Given the description of an element on the screen output the (x, y) to click on. 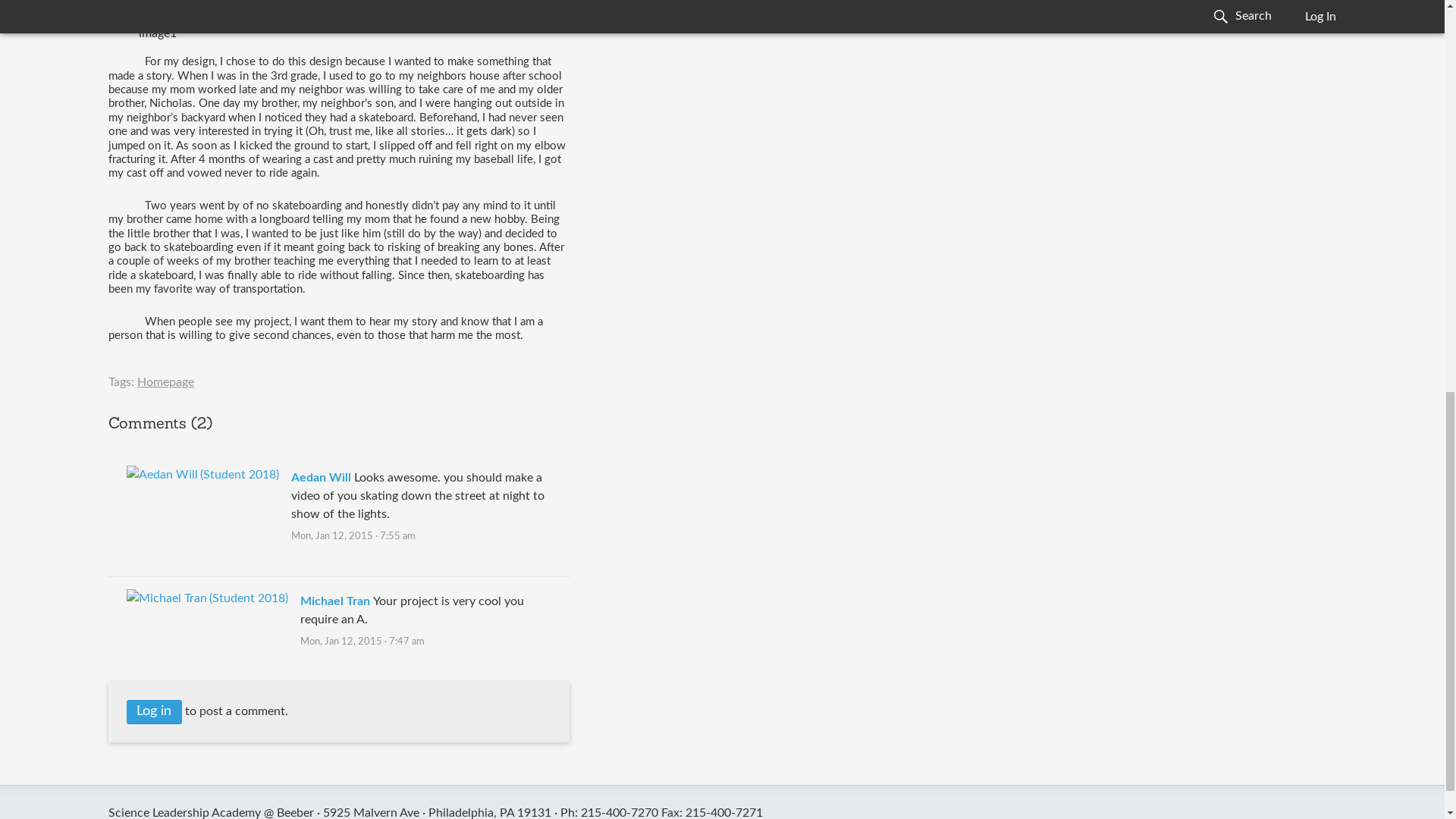
Log in (154, 712)
Aedan Will (320, 477)
Michael Tran (334, 601)
Homepage (164, 381)
image1 (338, 15)
